Given the description of an element on the screen output the (x, y) to click on. 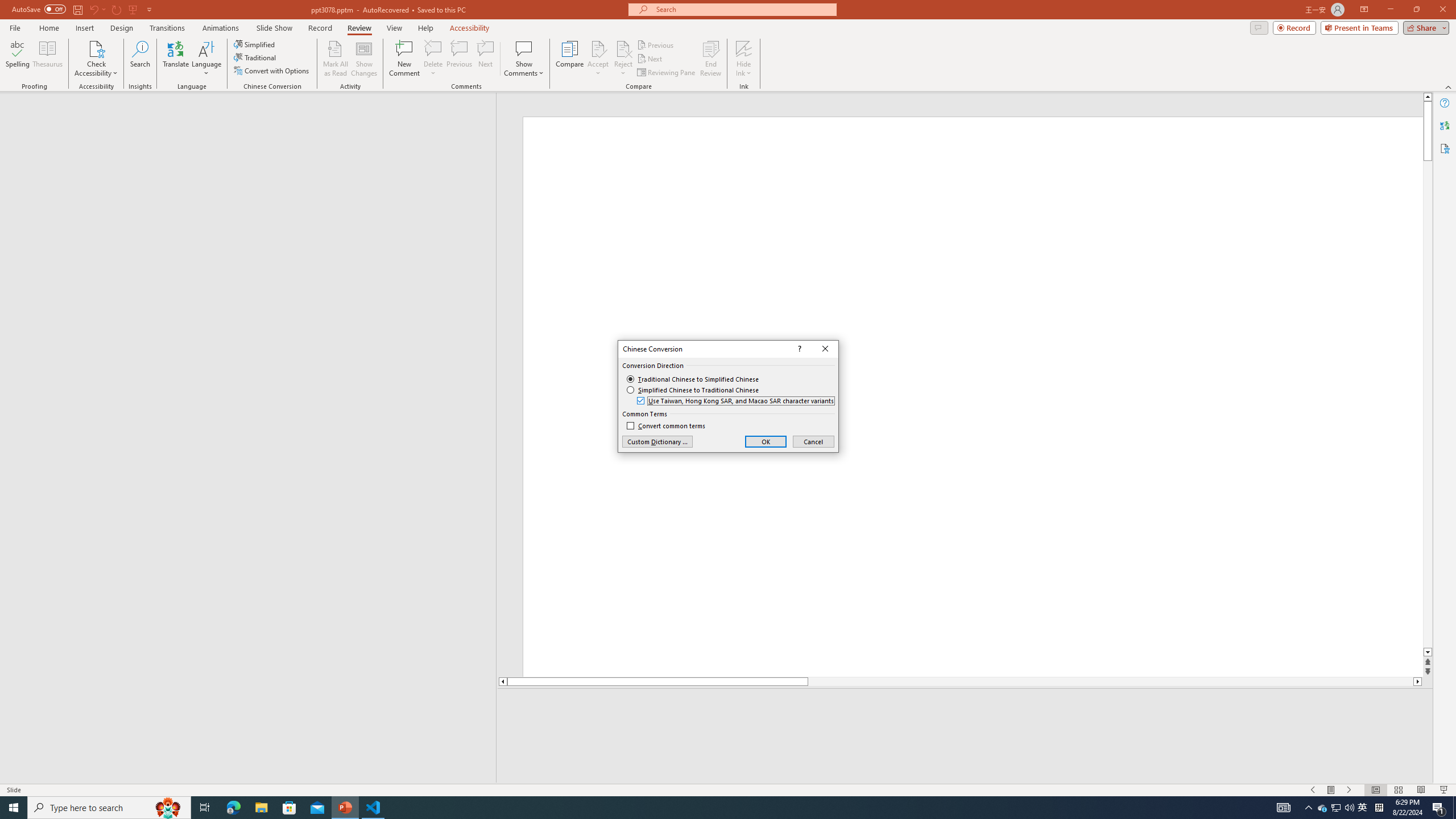
Slide Show Next On (1349, 790)
Hide Ink (743, 48)
Context help (798, 348)
Menu On (1331, 790)
Slide Notes (965, 705)
